Given the description of an element on the screen output the (x, y) to click on. 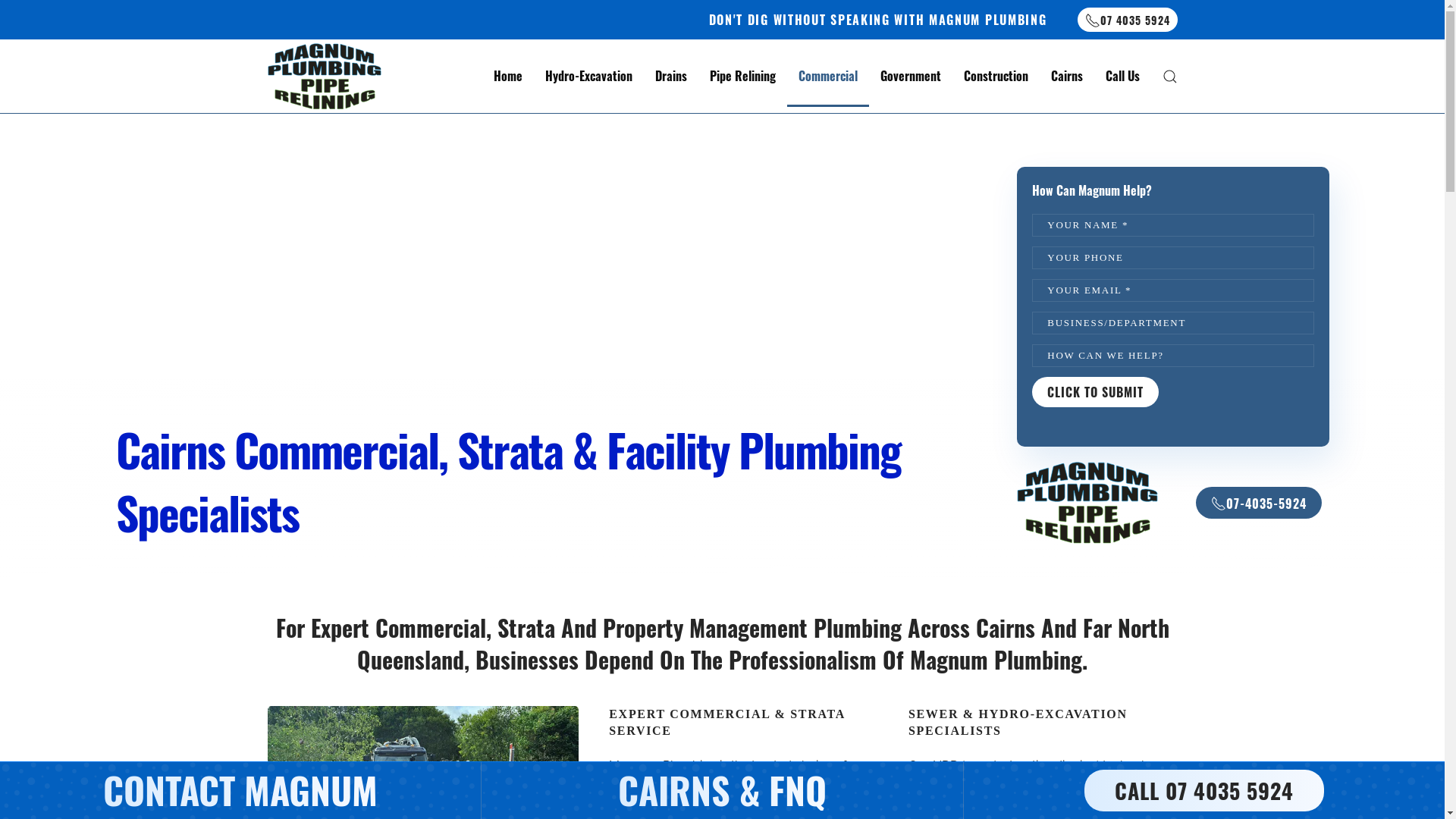
Call Us Element type: text (1121, 76)
07-4035-5924 Element type: text (1258, 502)
Home Element type: text (507, 76)
CLICK TO SUBMIT Element type: text (1095, 391)
CALL 07 4035 5924 Element type: text (1204, 790)
Hydro-Excavation Element type: text (588, 76)
Construction Element type: text (995, 76)
Cairns Element type: text (1065, 76)
Commercial Element type: text (828, 76)
Government Element type: text (910, 76)
07 4035 5924 Element type: text (1126, 19)
Pipe Relining Element type: text (741, 76)
Drains Element type: text (670, 76)
